Given the description of an element on the screen output the (x, y) to click on. 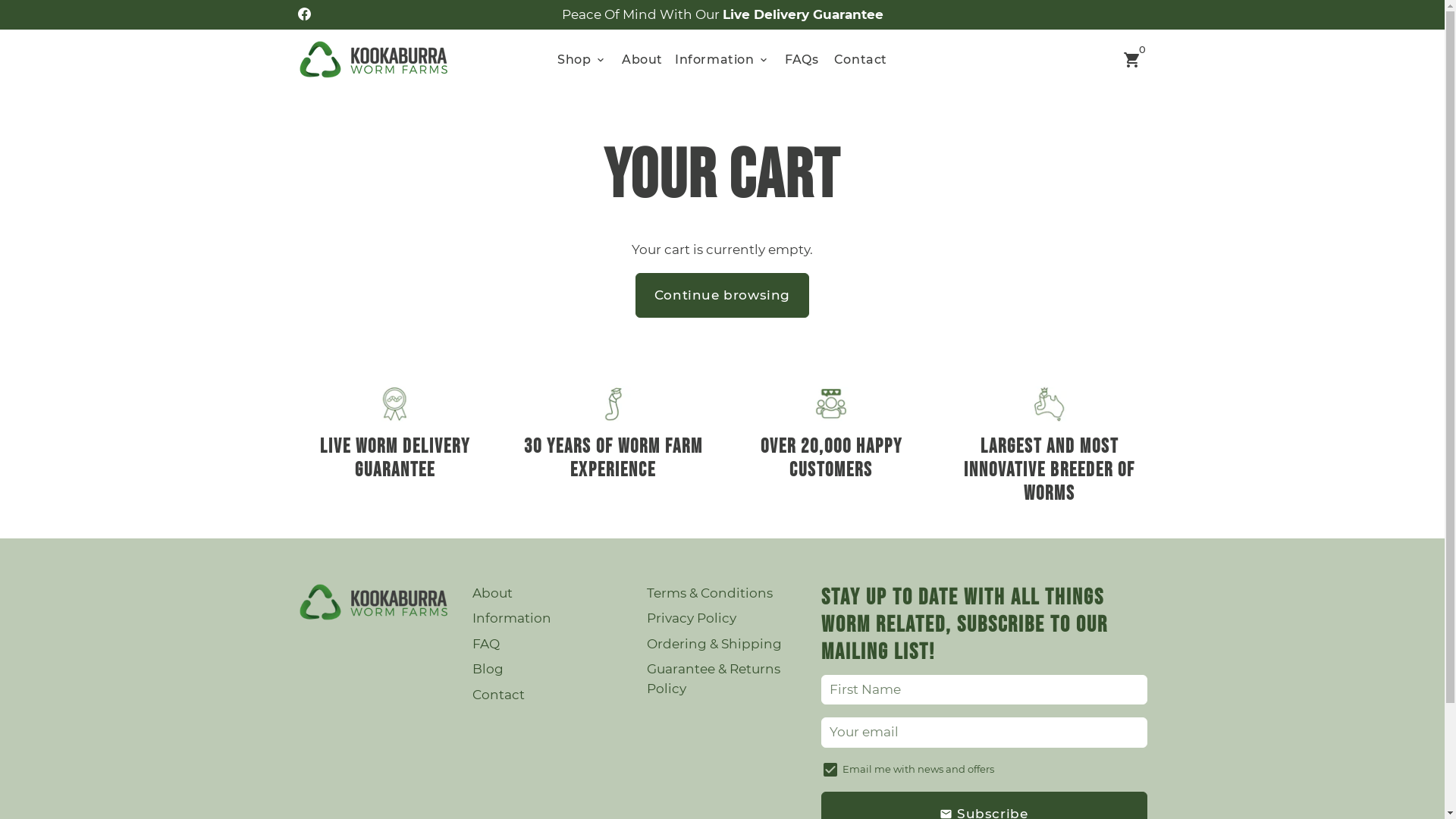
Skip to content Element type: text (0, 0)
shopping_cart
0 Element type: text (1131, 58)
Ordering & Shipping Element type: text (713, 644)
About Element type: text (491, 593)
Kookaburra Worm Farms on Facebook Element type: hover (303, 13)
FAQ Element type: text (484, 644)
Continue browsing Element type: text (722, 295)
Guarantee & Returns Policy Element type: text (721, 678)
Privacy Policy Element type: text (690, 618)
Shop keyboard_arrow_down Element type: text (581, 59)
Blog Element type: text (486, 669)
Information Element type: text (510, 618)
FAQs Element type: text (801, 59)
About Element type: text (641, 59)
Contact Element type: text (860, 59)
Information keyboard_arrow_down Element type: text (721, 59)
Terms & Conditions Element type: text (708, 593)
Contact Element type: text (497, 695)
